Given the description of an element on the screen output the (x, y) to click on. 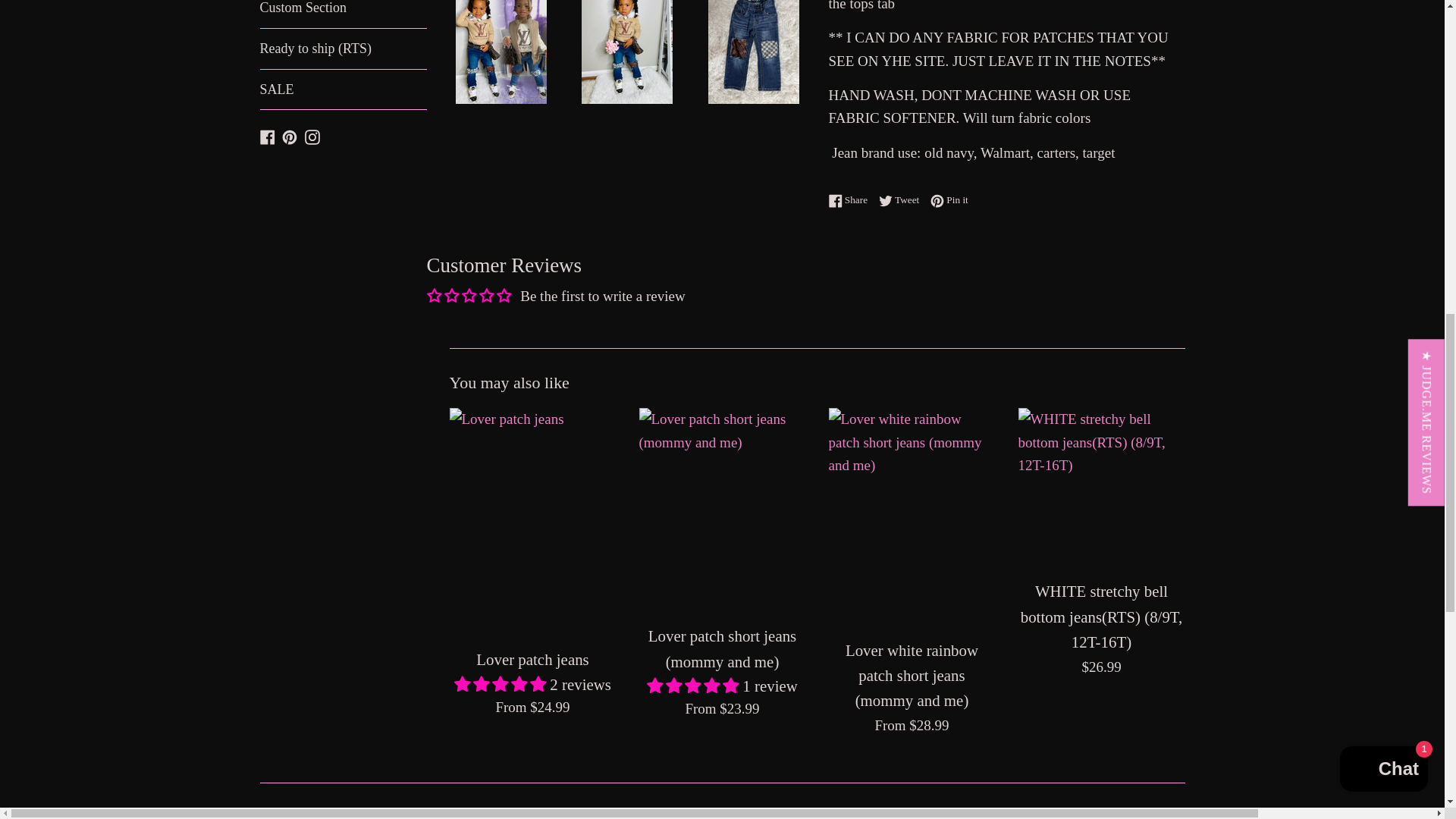
Share on Facebook (851, 199)
Pinterest (289, 135)
Instagram (949, 199)
Custom Section (312, 135)
The B'Cute Brand on Pinterest (342, 13)
SALE (289, 135)
Tweet on Twitter (342, 89)
The B'Cute Brand on Instagram (902, 199)
Facebook (851, 199)
The B'Cute Brand on Facebook (312, 135)
Pin on Pinterest (902, 199)
